Given the description of an element on the screen output the (x, y) to click on. 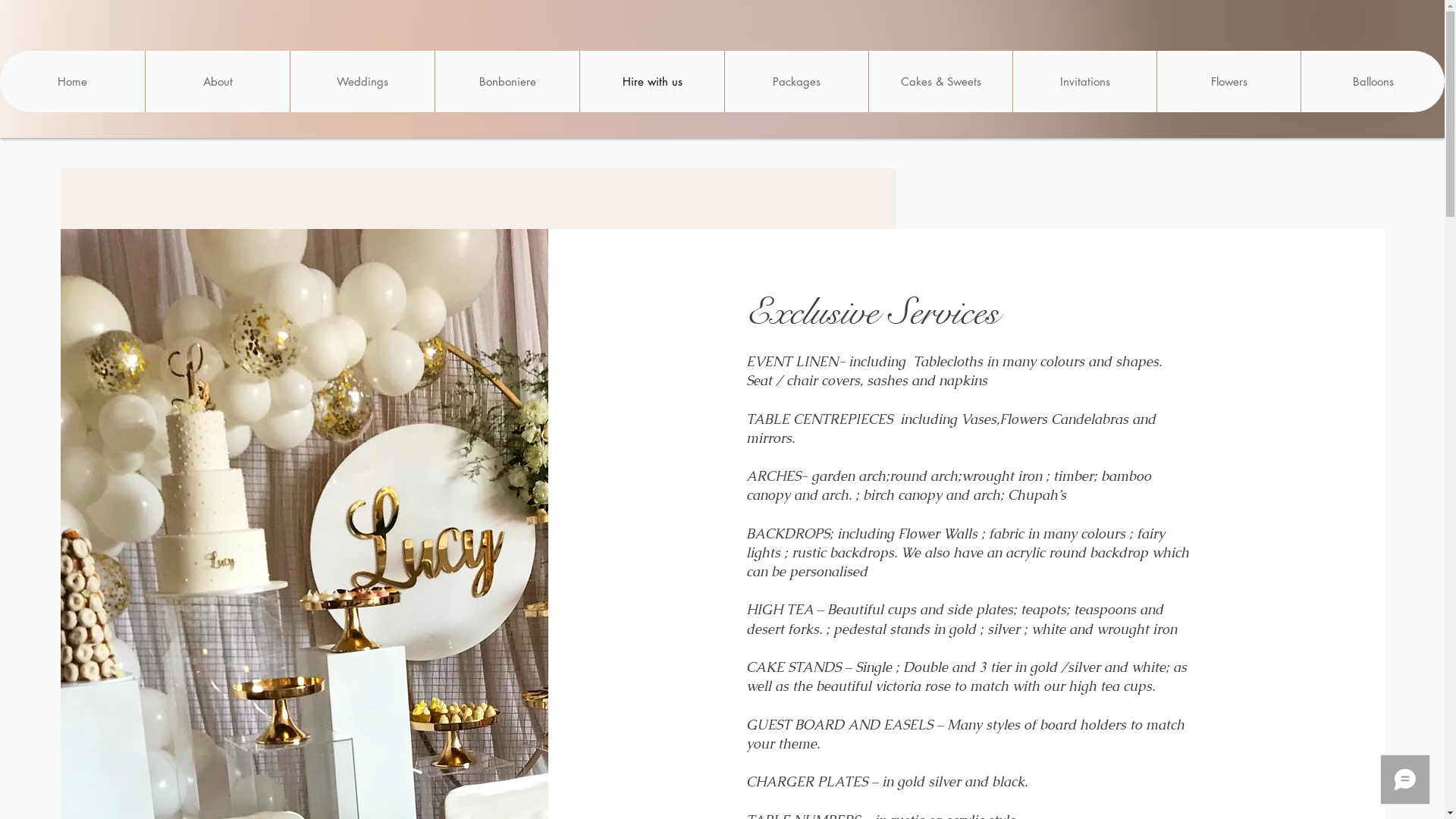
Invitations Element type: text (1084, 81)
Flowers Element type: text (1228, 81)
Cakes & Sweets Element type: text (940, 81)
Hire with us Element type: text (651, 81)
Bonboniere Element type: text (506, 81)
Balloons Element type: text (1372, 81)
Packages Element type: text (796, 81)
Home Element type: text (72, 81)
About Element type: text (216, 81)
